Given the description of an element on the screen output the (x, y) to click on. 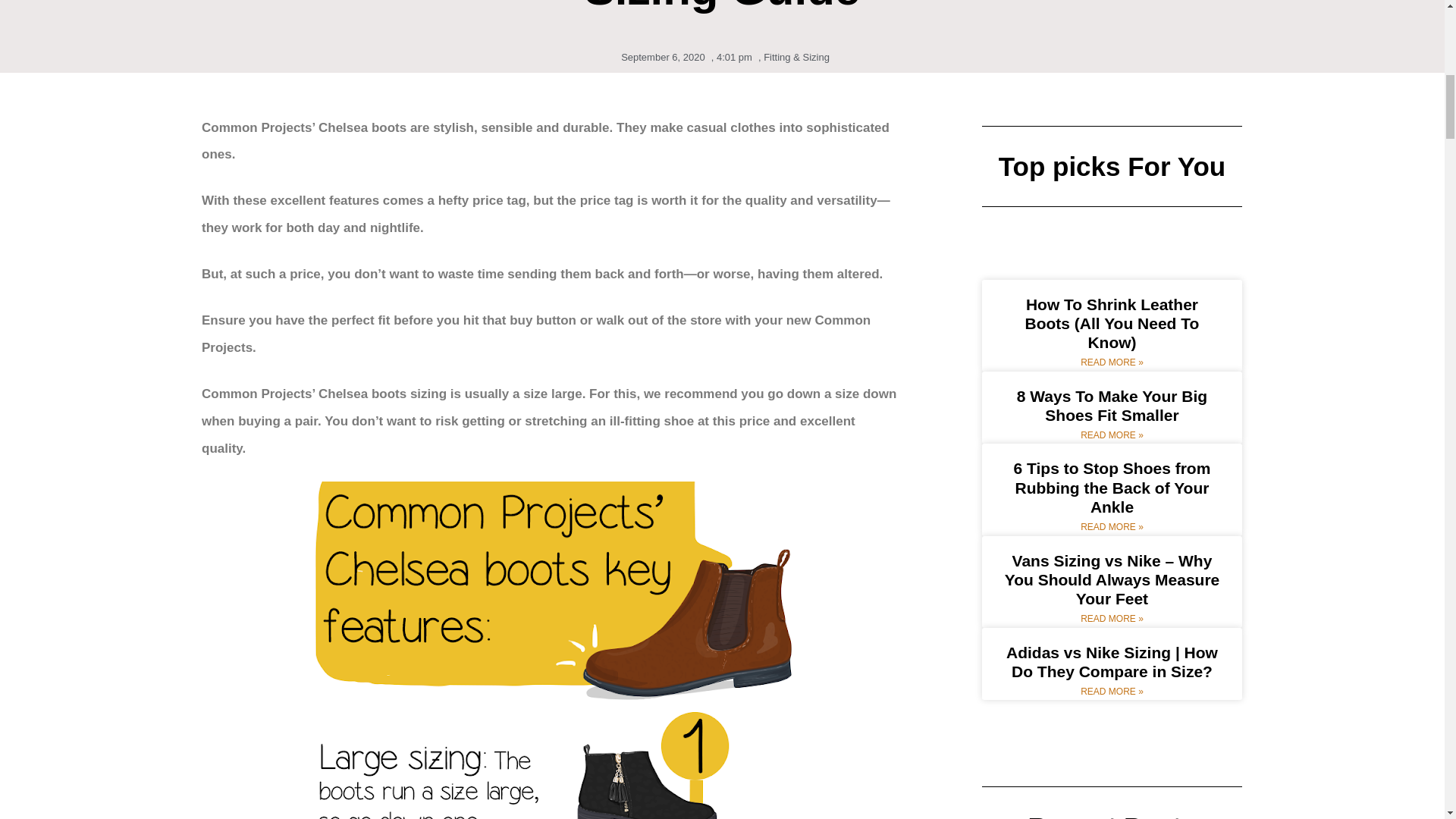
September 6, 2020 (659, 57)
6 Tips to Stop Shoes from Rubbing the Back of Your Ankle (1112, 487)
8 Ways To Make Your Big Shoes Fit Smaller (1111, 405)
